Given the description of an element on the screen output the (x, y) to click on. 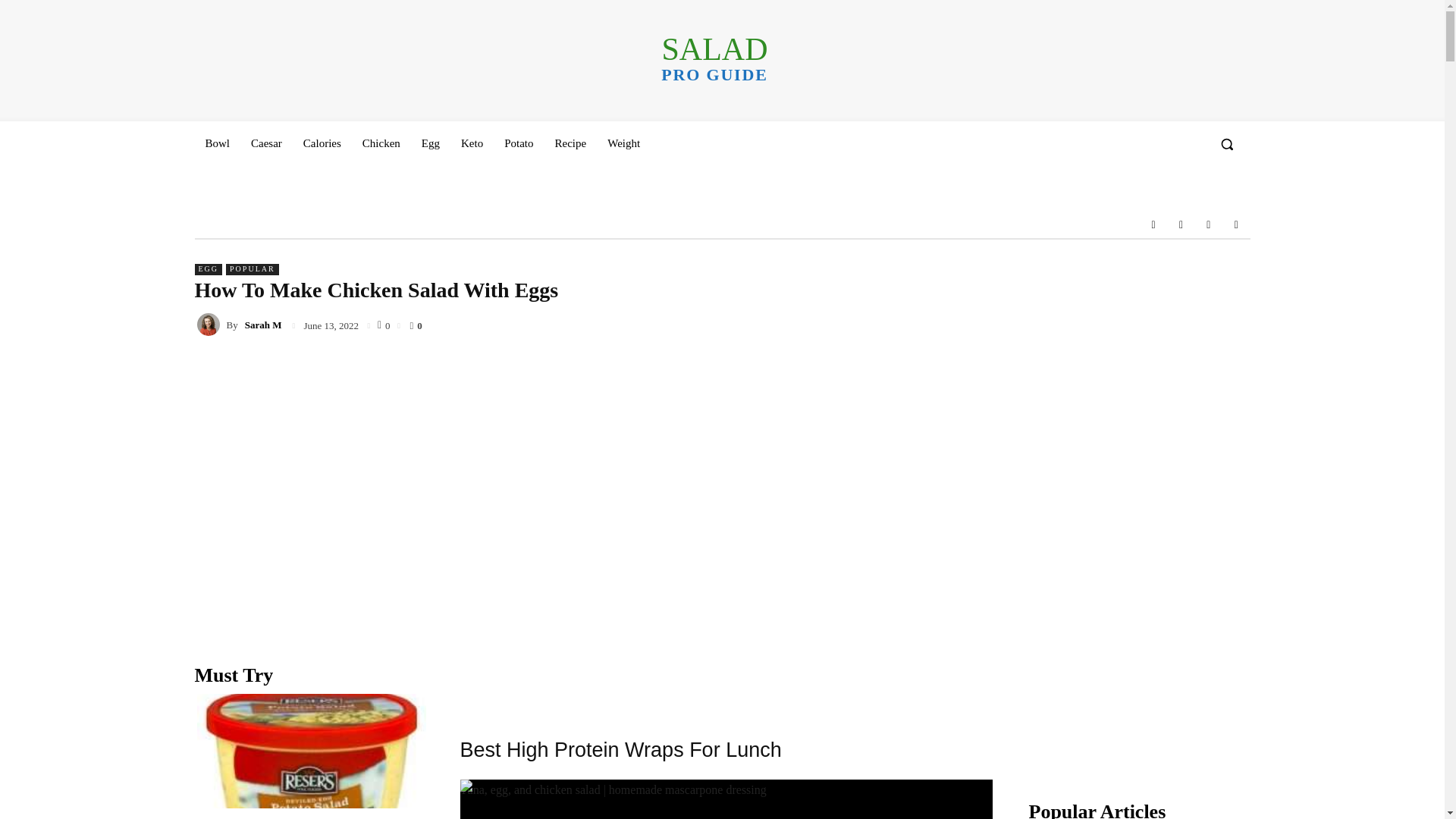
VKontakte (1209, 224)
Potato (518, 143)
Egg (429, 143)
Instagram (1180, 224)
Bowl (216, 143)
Chicken (381, 143)
Keto (471, 143)
Caesar (266, 143)
Facebook (1153, 224)
Youtube (1236, 224)
